Given the description of an element on the screen output the (x, y) to click on. 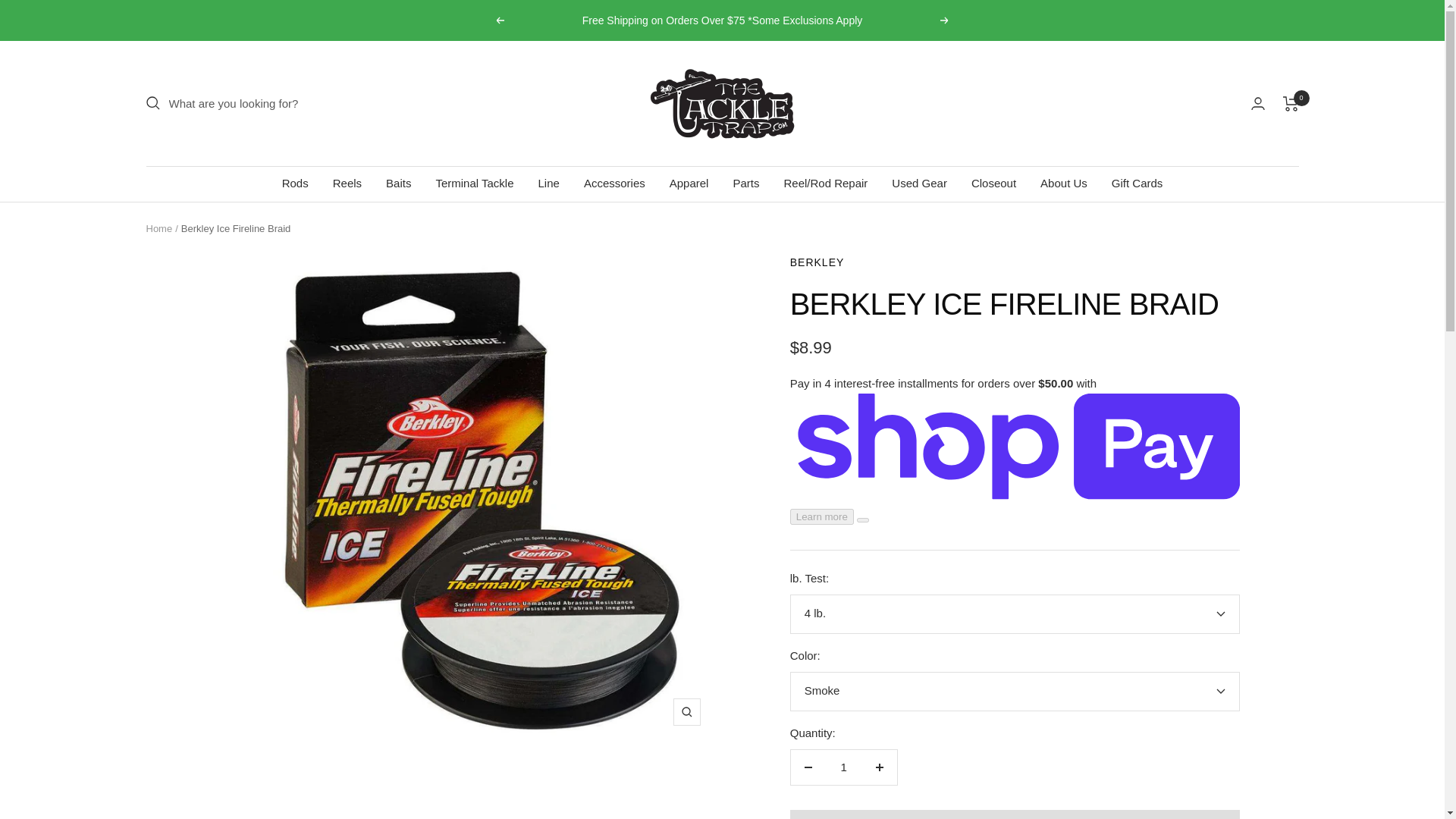
313097027878 (1015, 719)
Previous (499, 20)
Zoom (686, 711)
Home (158, 228)
Reels (347, 183)
313096929574 (1015, 655)
Parts (745, 183)
BERKLEY (817, 262)
Apparel (689, 183)
About Us (1064, 183)
